Given the description of an element on the screen output the (x, y) to click on. 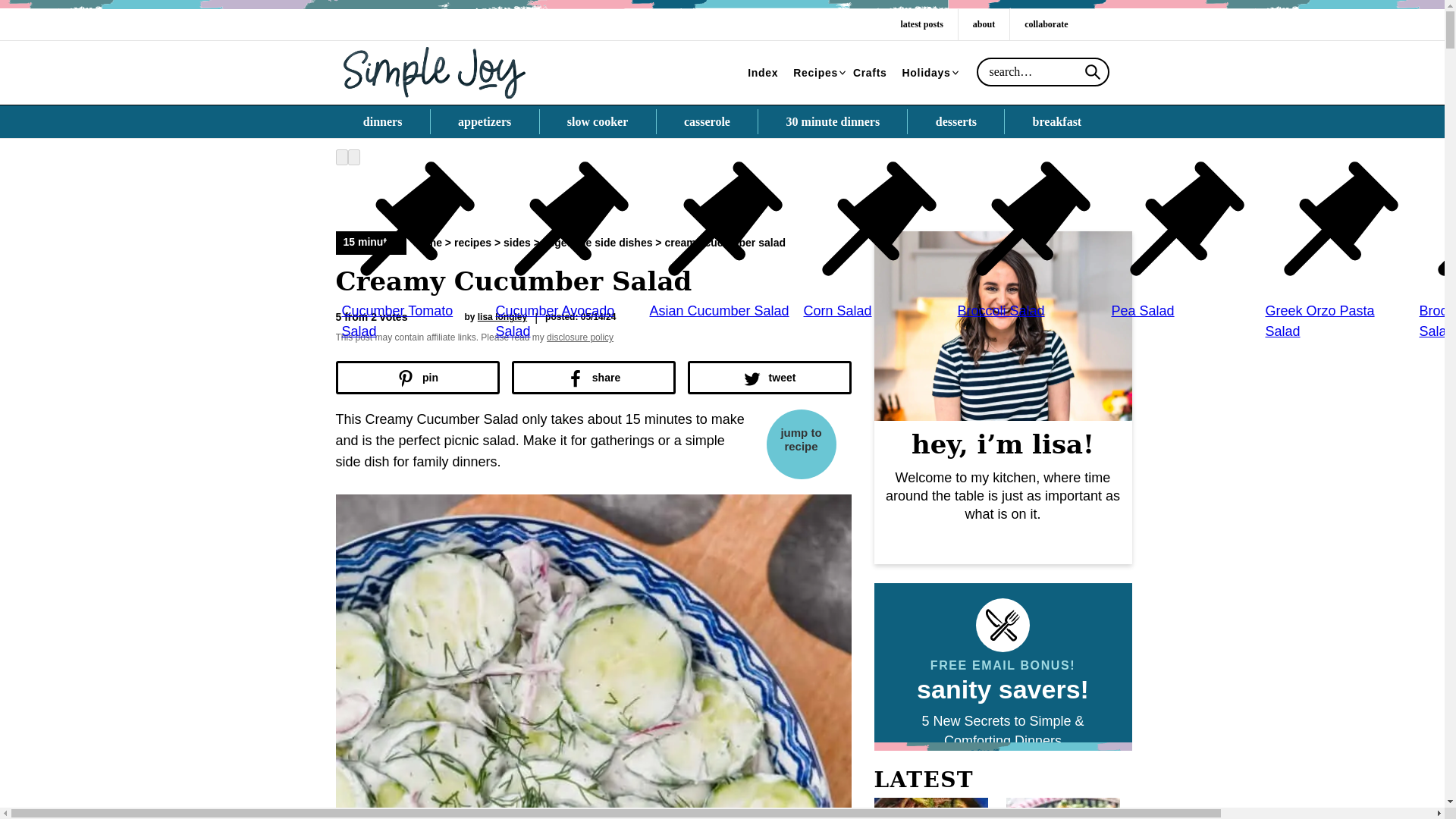
Share on Facebook (593, 377)
pinterest (1096, 24)
latest posts (920, 24)
Search for (1042, 71)
Index (762, 72)
youtube (1106, 24)
Share on Twitter (768, 377)
about (983, 24)
Simple Joy (433, 71)
Share on Pinterest (416, 377)
Recipes (815, 72)
instagram (1090, 24)
collaborate (1045, 24)
twitter (1100, 24)
facebook (1085, 24)
